Given the description of an element on the screen output the (x, y) to click on. 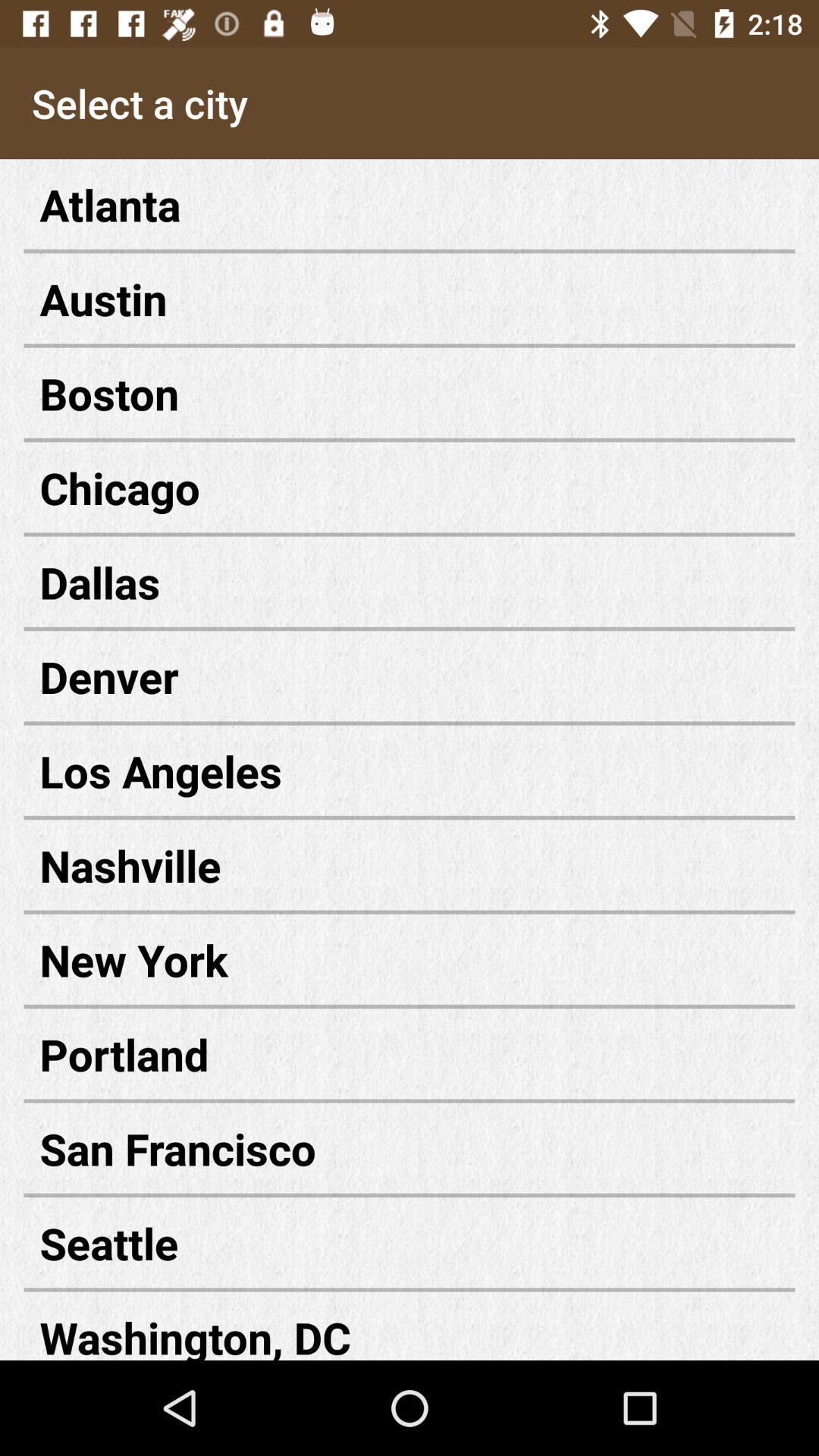
turn on the item below denver icon (409, 770)
